Given the description of an element on the screen output the (x, y) to click on. 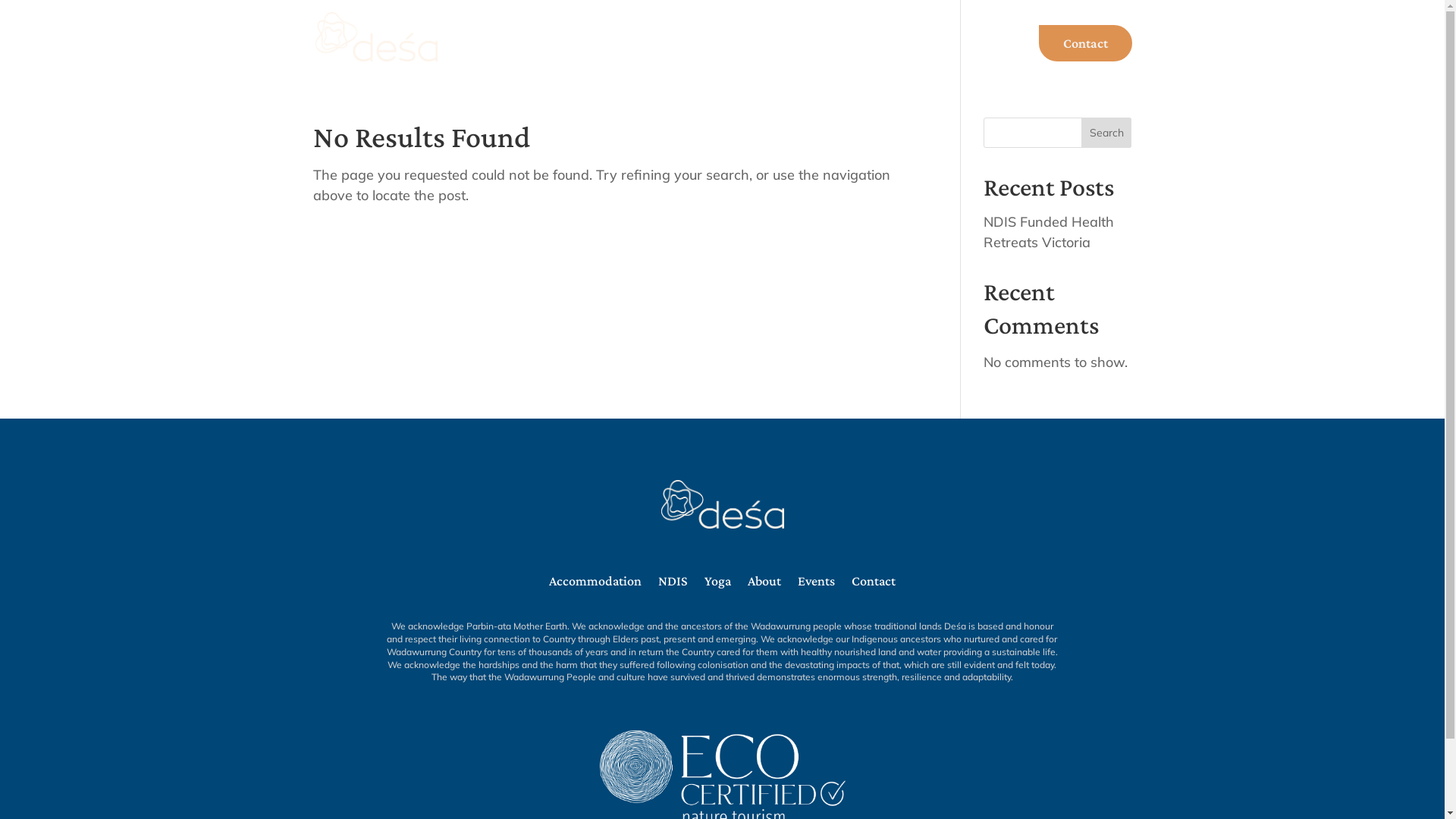
Events Element type: text (815, 583)
NDIS Funded Health Retreats Victoria Element type: text (1048, 232)
Retreats Element type: text (633, 55)
Contact Element type: text (1085, 42)
About Element type: text (764, 583)
NDIS Element type: text (704, 55)
Events Element type: text (834, 55)
Therapies Element type: text (914, 55)
About Element type: text (994, 55)
Accommodation Element type: text (595, 583)
Accommodation Element type: text (528, 55)
Yoga Element type: text (767, 55)
Yoga Element type: text (717, 583)
NDIS Element type: text (672, 583)
Search Element type: text (1106, 132)
Contact Element type: text (873, 583)
desa-logo-reverse Element type: hover (722, 504)
